Given the description of an element on the screen output the (x, y) to click on. 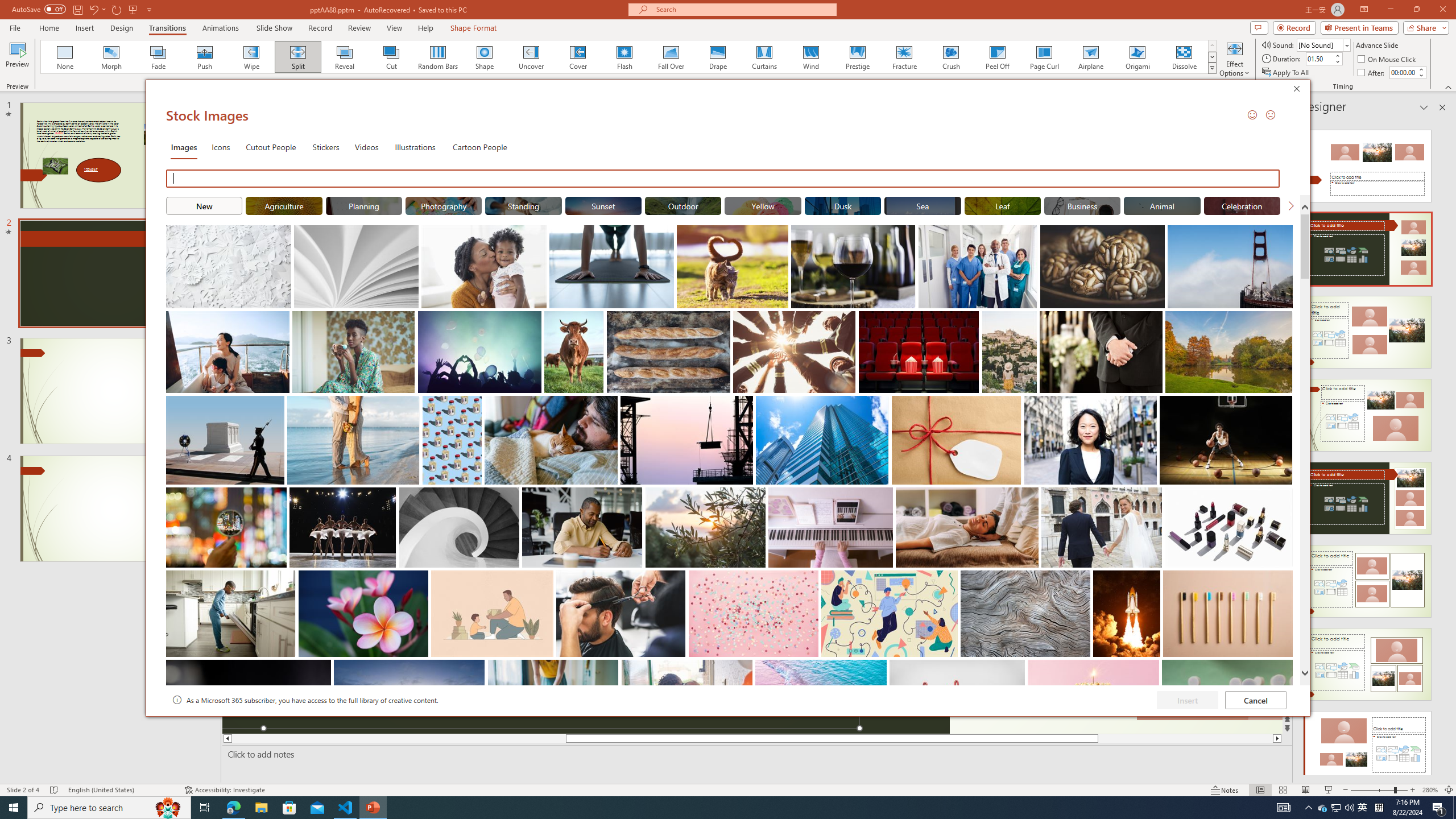
AutomationID: 4105 (1283, 807)
"New" Stock Images. (203, 205)
"Business" Stock Images. (1082, 205)
Cut (391, 56)
Microsoft Store (289, 807)
Microsoft Edge - 1 running window (233, 807)
